Given the description of an element on the screen output the (x, y) to click on. 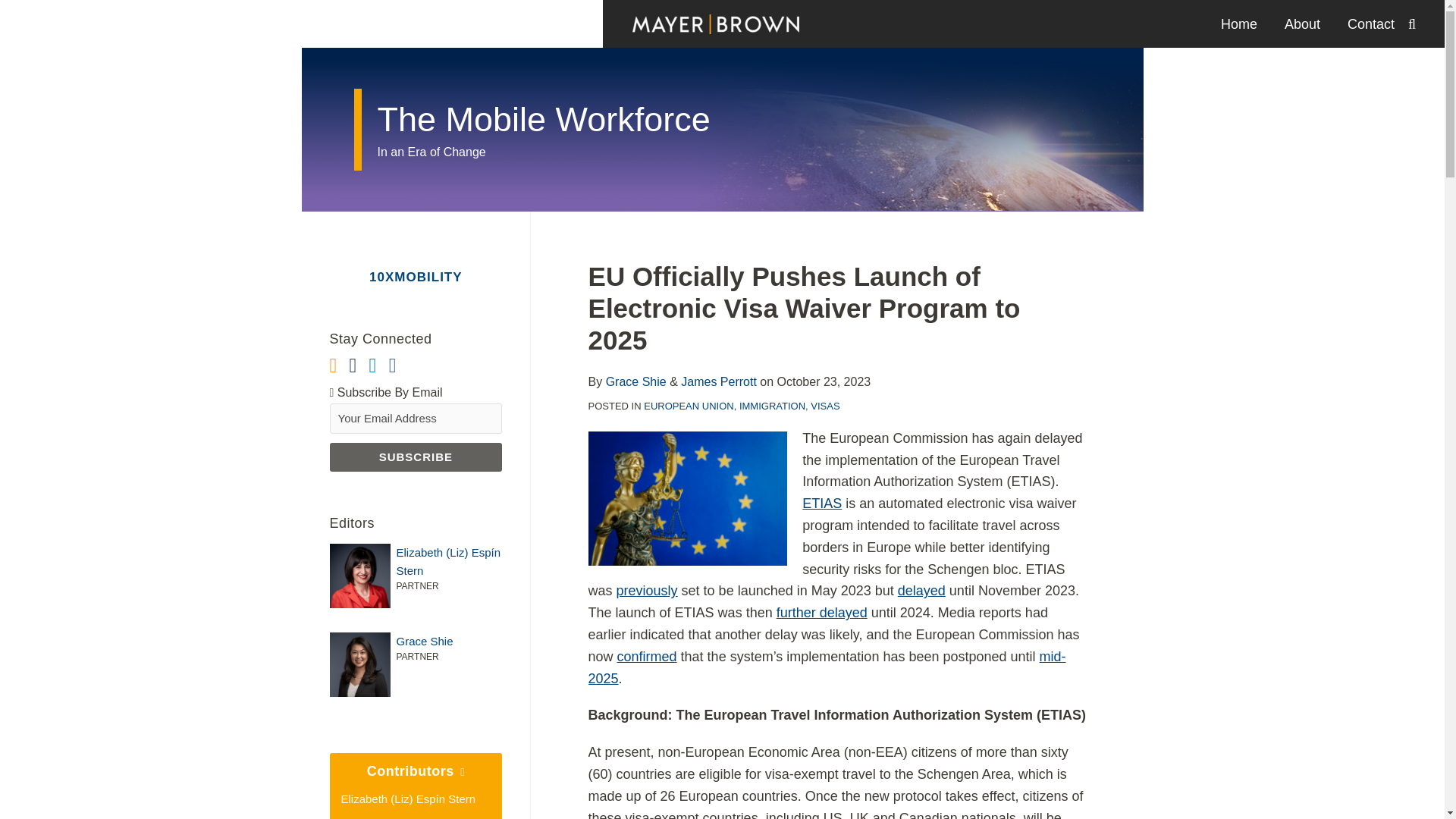
confirmed (647, 656)
10XMOBILITY (415, 277)
Grace Shie (415, 641)
ETIAS (821, 503)
Home (1239, 24)
previously (646, 590)
IMMIGRATION (772, 405)
EUROPEAN UNION (688, 405)
Subscribe (415, 457)
About (1302, 24)
